Given the description of an element on the screen output the (x, y) to click on. 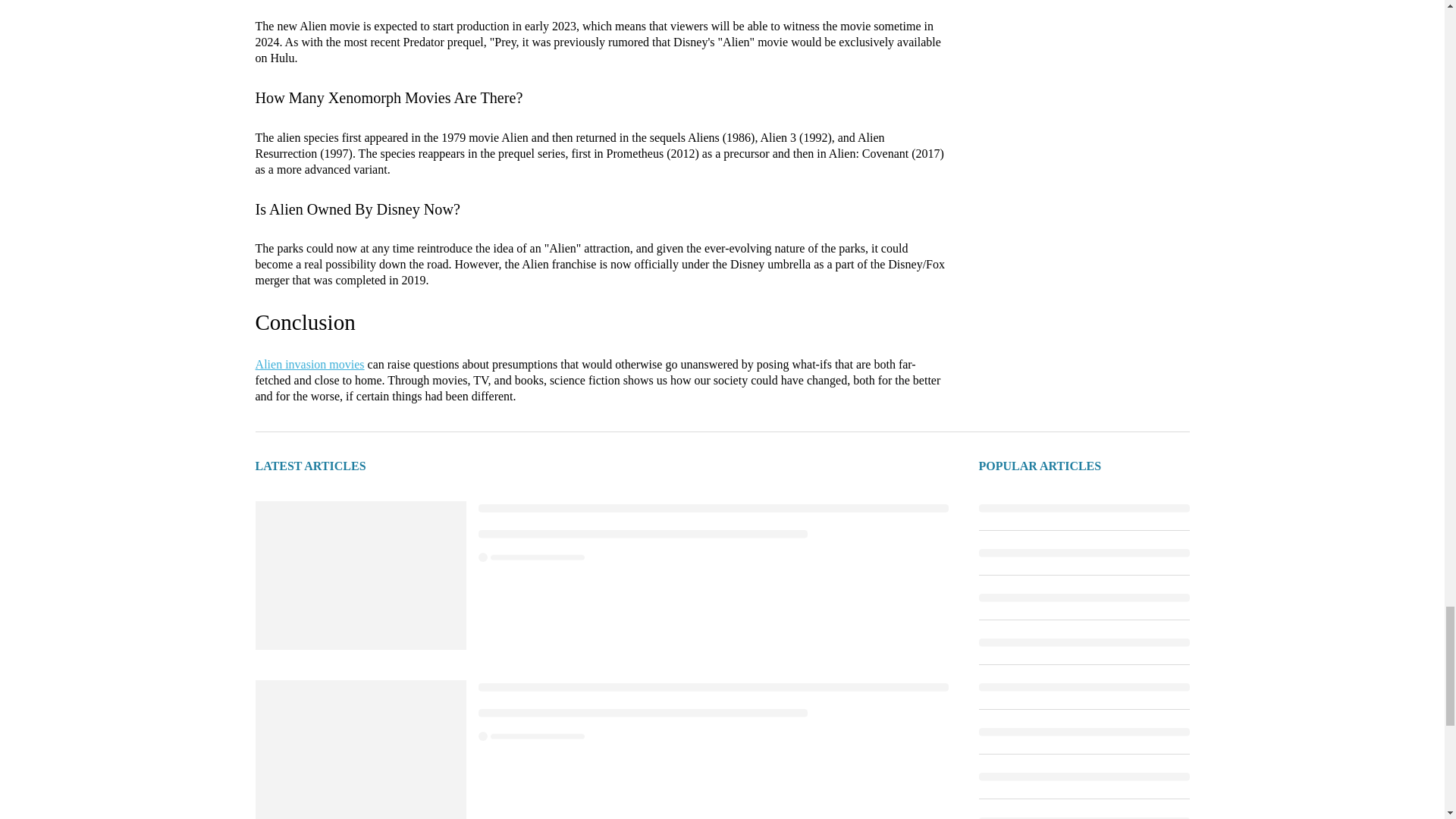
Conclusion (304, 322)
How Many Xenomorph Movies Are There? (388, 97)
How Many Xenomorph Movies Are There? (388, 97)
Conclusion (304, 322)
Is Alien Owned By Disney Now? (357, 208)
Alien invasion movies (310, 364)
Is Alien Owned By Disney Now? (357, 208)
